Given the description of an element on the screen output the (x, y) to click on. 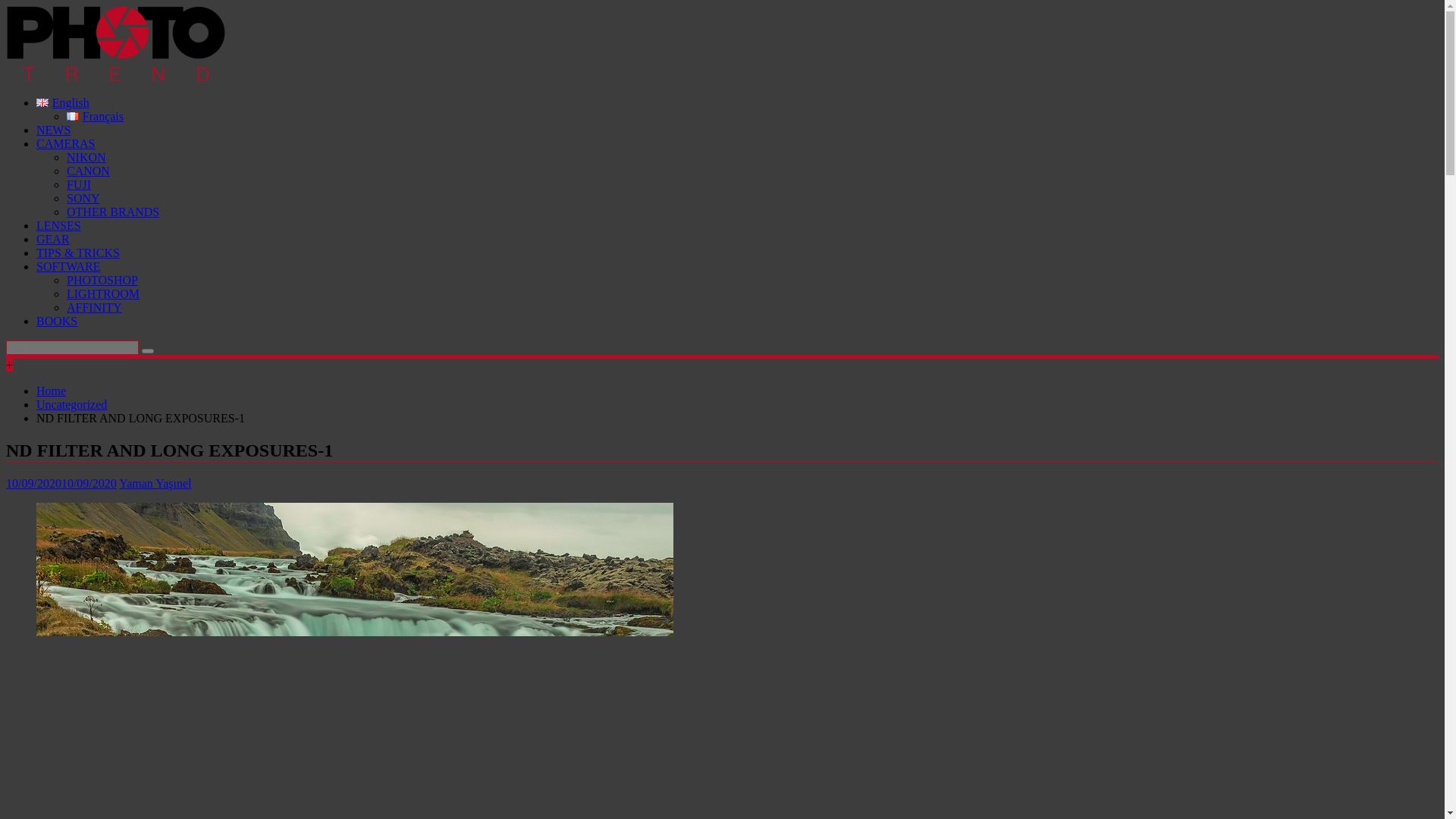
English (62, 102)
SONY (83, 197)
LENSES (58, 225)
OTHER BRANDS (112, 211)
BOOKS (56, 320)
GEAR (52, 238)
NIKON (86, 156)
Uncategorized (71, 404)
PHOTOSHOP (102, 279)
